Given the description of an element on the screen output the (x, y) to click on. 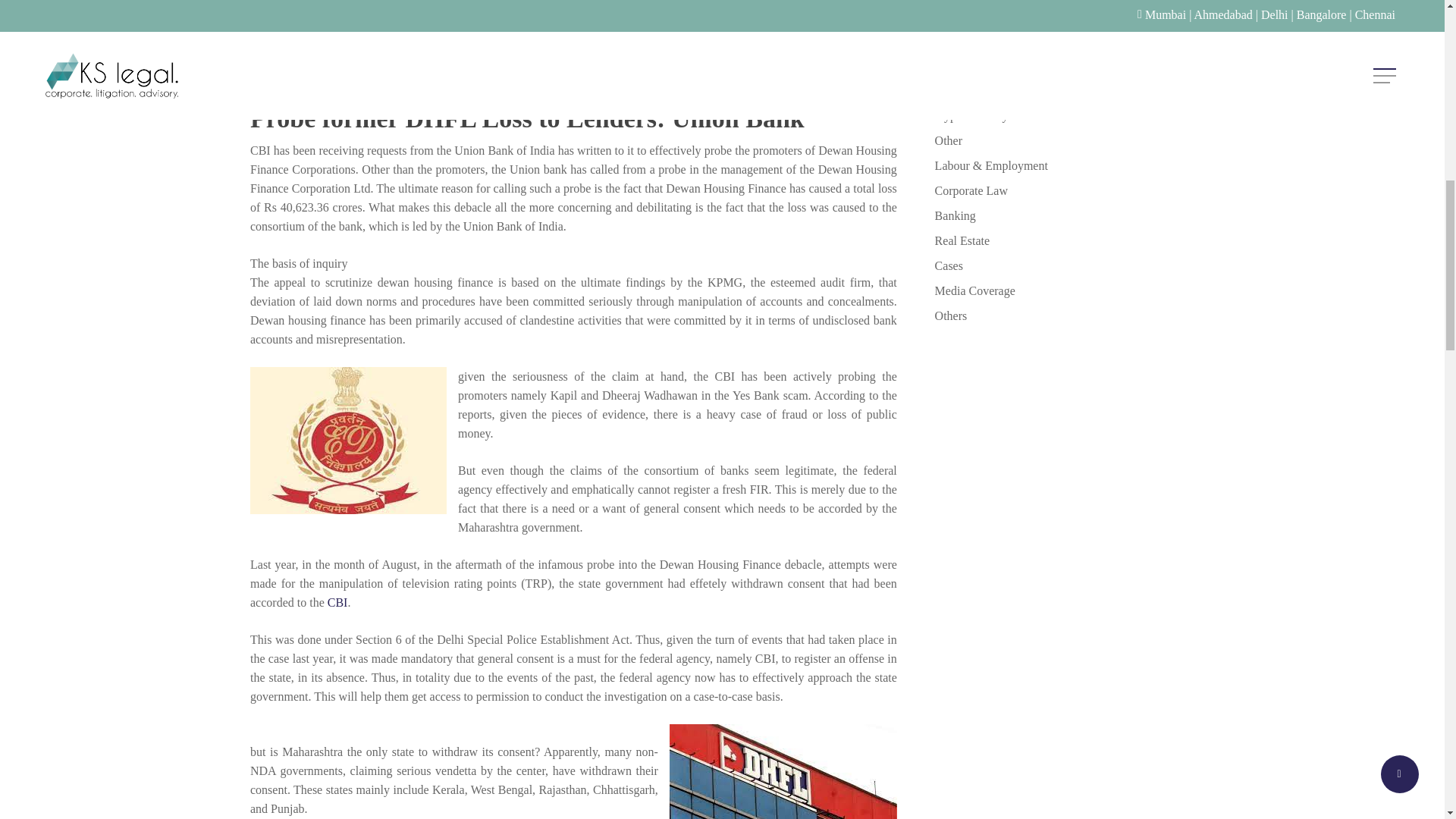
Others (1063, 315)
Media Coverage (1063, 290)
Real Estate (1063, 240)
Other (1063, 140)
tax (1063, 90)
Corporate Law (1063, 189)
Economy (1063, 15)
Cases (1063, 265)
arbitrator (1063, 40)
Banking (1063, 215)
